Given the description of an element on the screen output the (x, y) to click on. 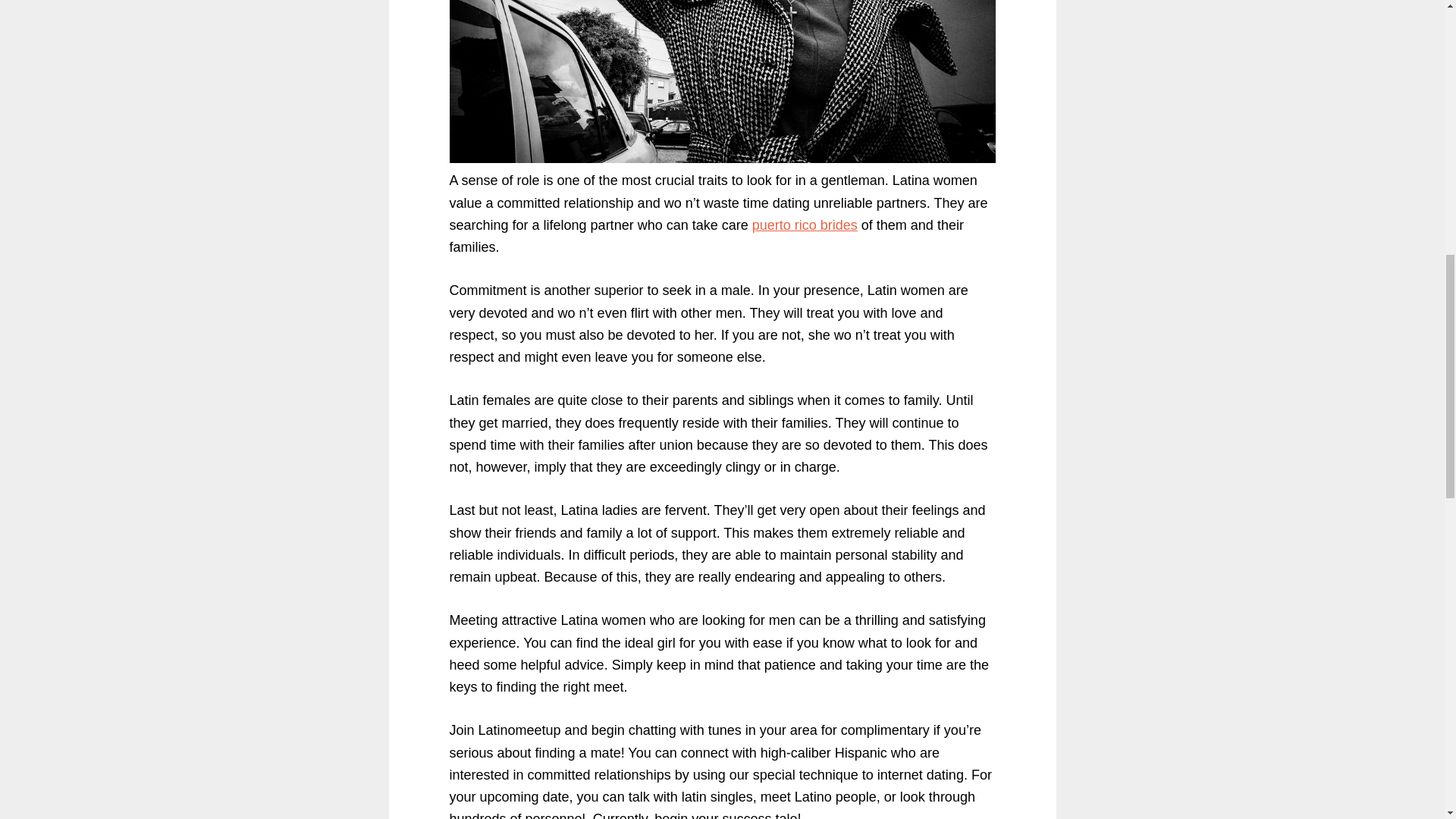
puerto rico brides (804, 224)
